Given the description of an element on the screen output the (x, y) to click on. 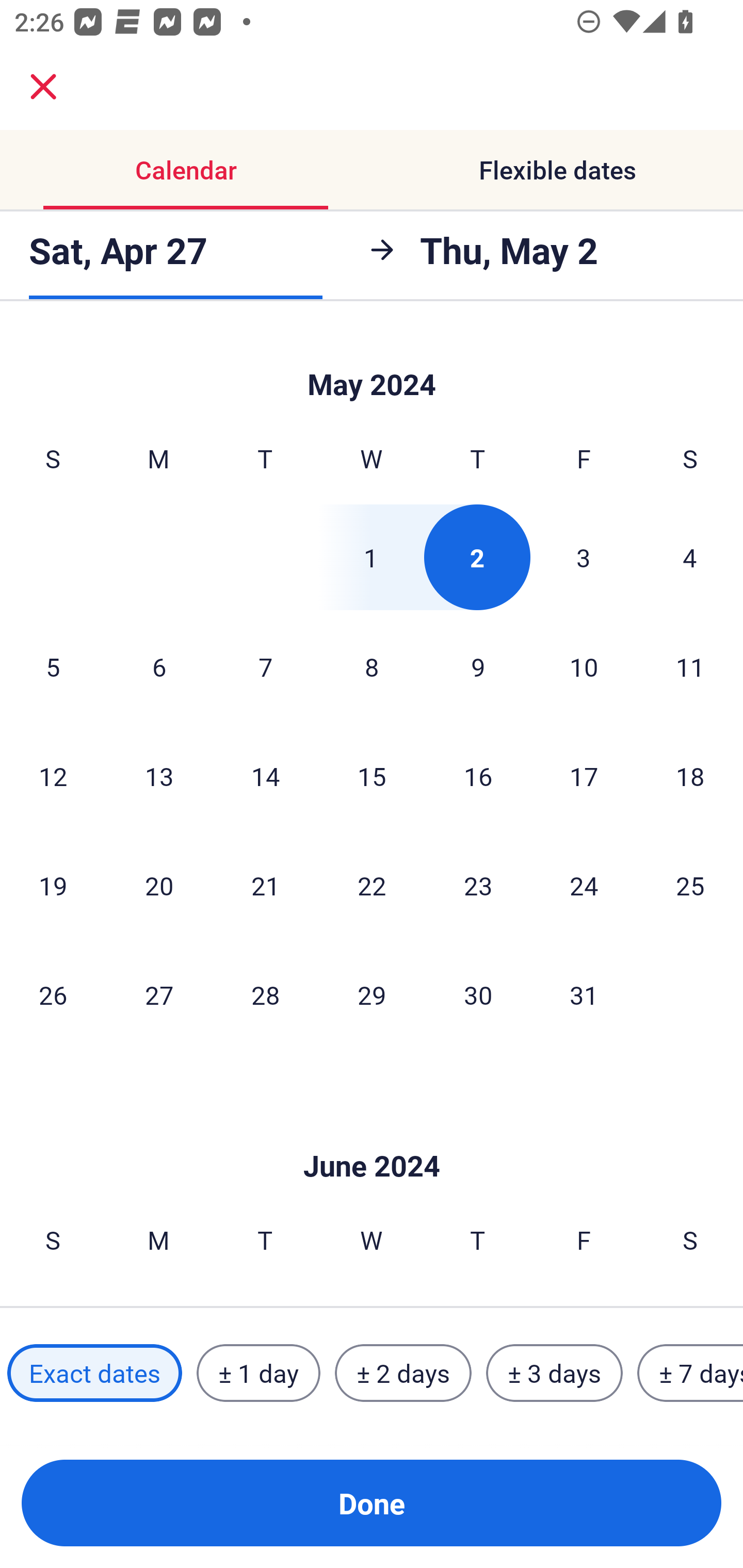
close. (43, 86)
Flexible dates (557, 170)
Skip to Done (371, 363)
3 Friday, May 3, 2024 (583, 556)
4 Saturday, May 4, 2024 (689, 556)
5 Sunday, May 5, 2024 (53, 666)
6 Monday, May 6, 2024 (159, 666)
7 Tuesday, May 7, 2024 (265, 666)
8 Wednesday, May 8, 2024 (371, 666)
9 Thursday, May 9, 2024 (477, 666)
10 Friday, May 10, 2024 (584, 666)
11 Saturday, May 11, 2024 (690, 666)
12 Sunday, May 12, 2024 (53, 775)
13 Monday, May 13, 2024 (159, 775)
14 Tuesday, May 14, 2024 (265, 775)
15 Wednesday, May 15, 2024 (371, 775)
16 Thursday, May 16, 2024 (477, 775)
17 Friday, May 17, 2024 (584, 775)
18 Saturday, May 18, 2024 (690, 775)
19 Sunday, May 19, 2024 (53, 884)
20 Monday, May 20, 2024 (159, 884)
21 Tuesday, May 21, 2024 (265, 884)
22 Wednesday, May 22, 2024 (371, 884)
23 Thursday, May 23, 2024 (477, 884)
24 Friday, May 24, 2024 (584, 884)
25 Saturday, May 25, 2024 (690, 884)
26 Sunday, May 26, 2024 (53, 994)
27 Monday, May 27, 2024 (159, 994)
28 Tuesday, May 28, 2024 (265, 994)
29 Wednesday, May 29, 2024 (371, 994)
30 Thursday, May 30, 2024 (477, 994)
31 Friday, May 31, 2024 (584, 994)
Skip to Done (371, 1135)
Exact dates (94, 1372)
± 1 day (258, 1372)
± 2 days (403, 1372)
± 3 days (553, 1372)
± 7 days (690, 1372)
Done (371, 1502)
